Given the description of an element on the screen output the (x, y) to click on. 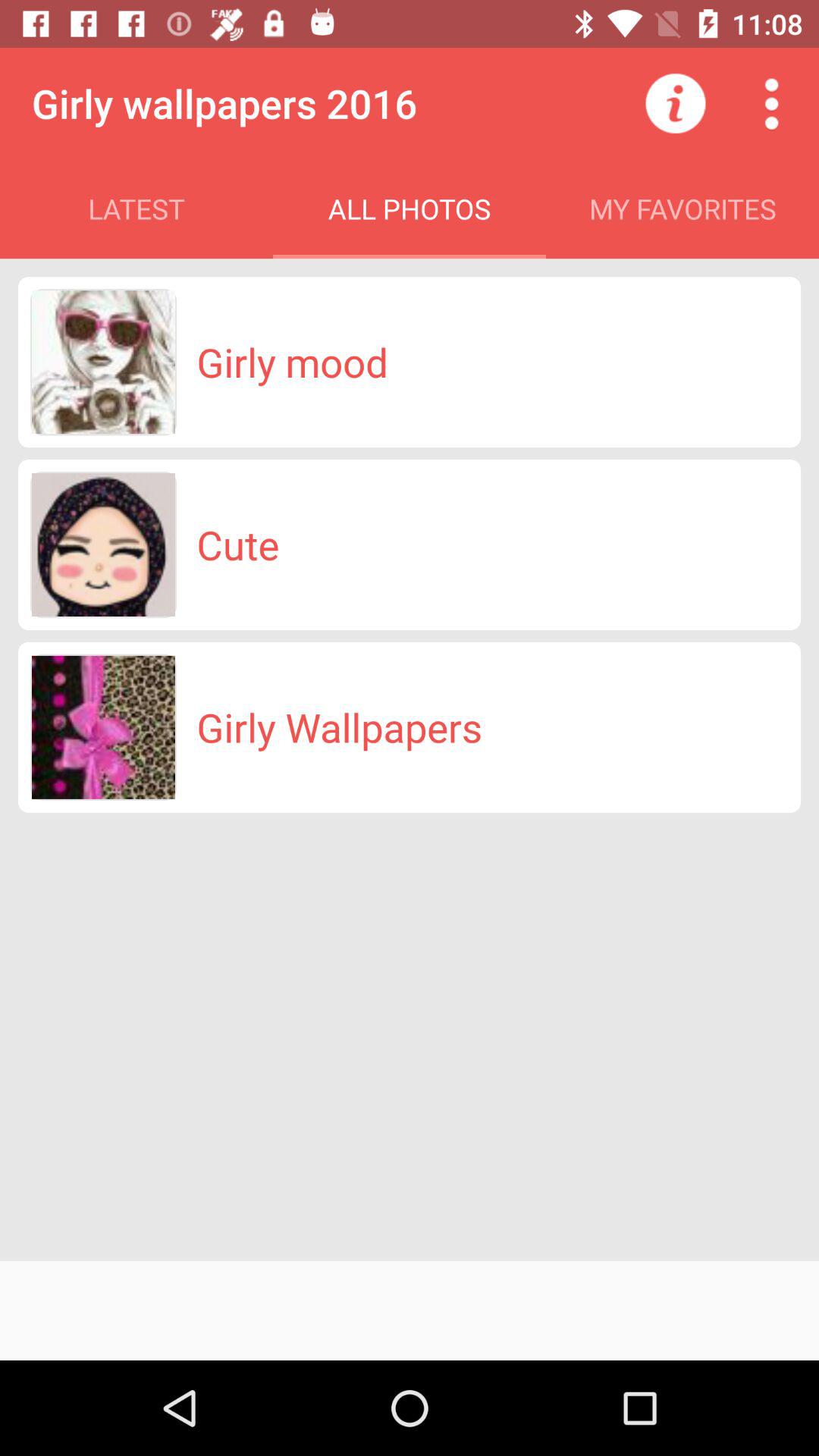
launch cute (237, 544)
